Given the description of an element on the screen output the (x, y) to click on. 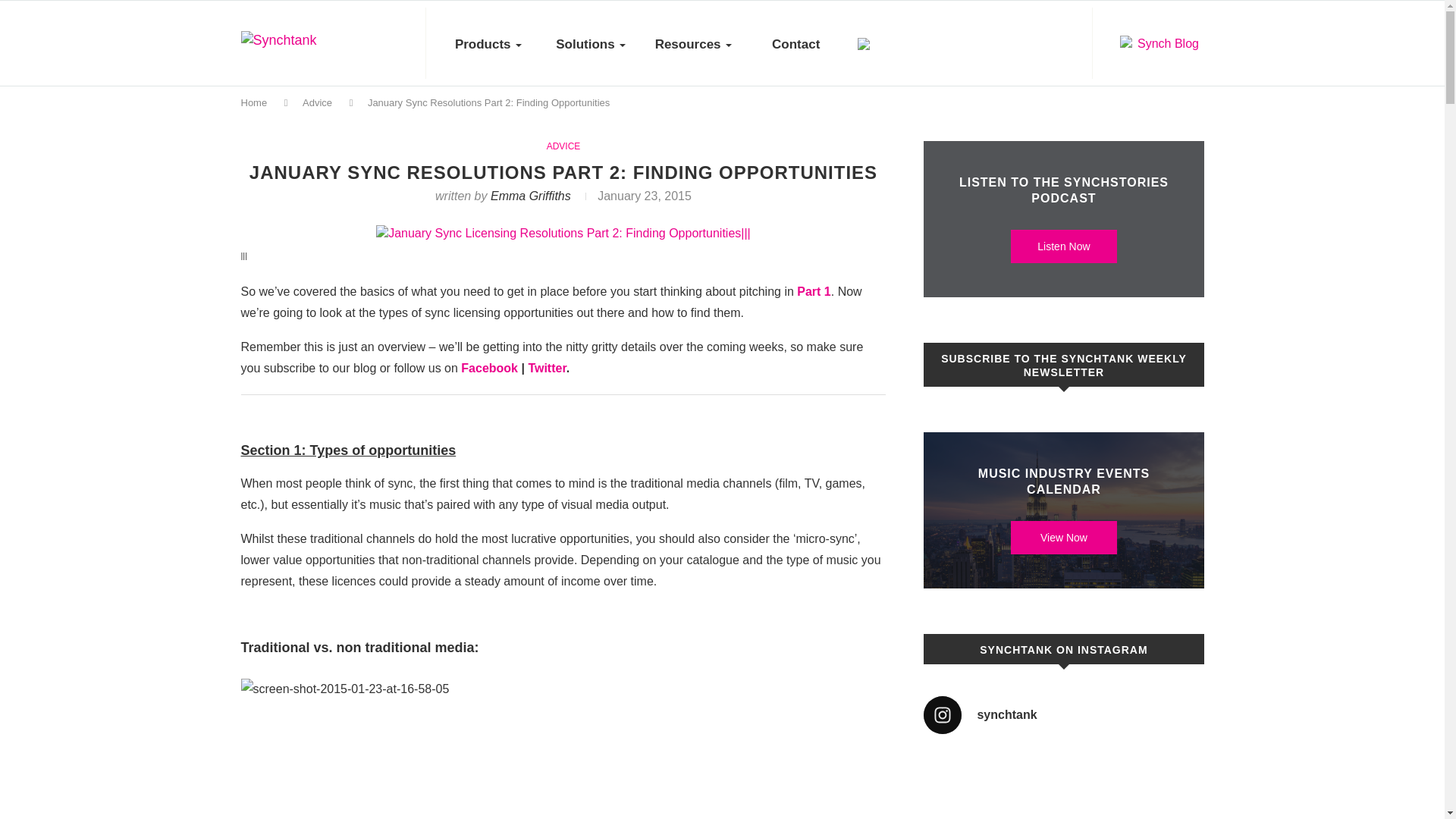
Products (487, 43)
Twitter (546, 367)
Contact (795, 43)
Resources (693, 43)
Facebook (489, 367)
Solutions (591, 43)
Resources (693, 43)
Emma Griffiths (530, 195)
Part 1 (812, 291)
Synchtank (315, 46)
